Given the description of an element on the screen output the (x, y) to click on. 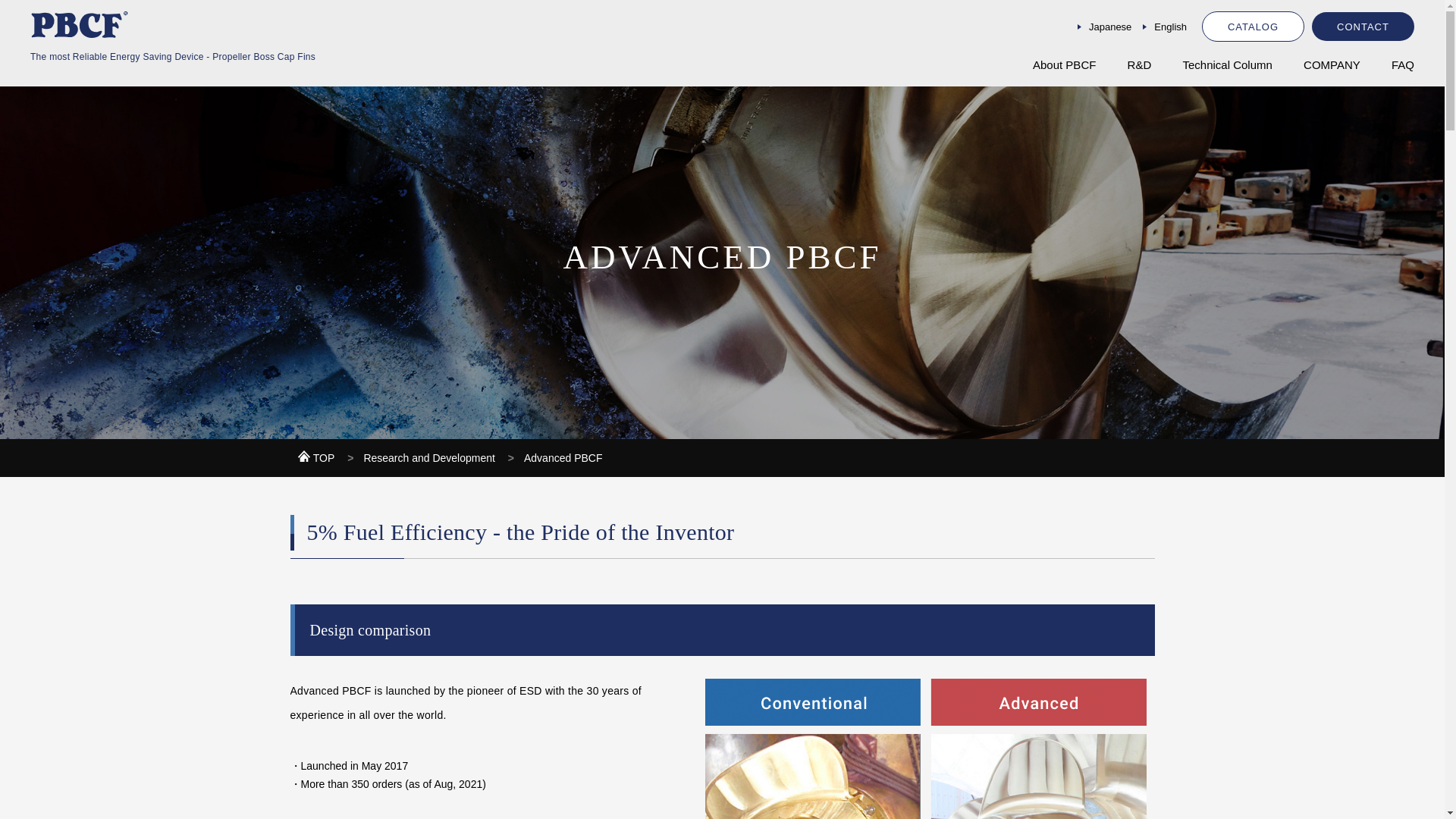
FAQ (1402, 65)
Advanced PBCF (563, 458)
Research and Development (430, 458)
About PBCF (1064, 65)
COMPANY (1331, 65)
TOP (317, 458)
Technical Column (1226, 65)
Japanese (1110, 26)
CATALOG (1252, 26)
CONTACT (1362, 26)
English (1170, 26)
